Given the description of an element on the screen output the (x, y) to click on. 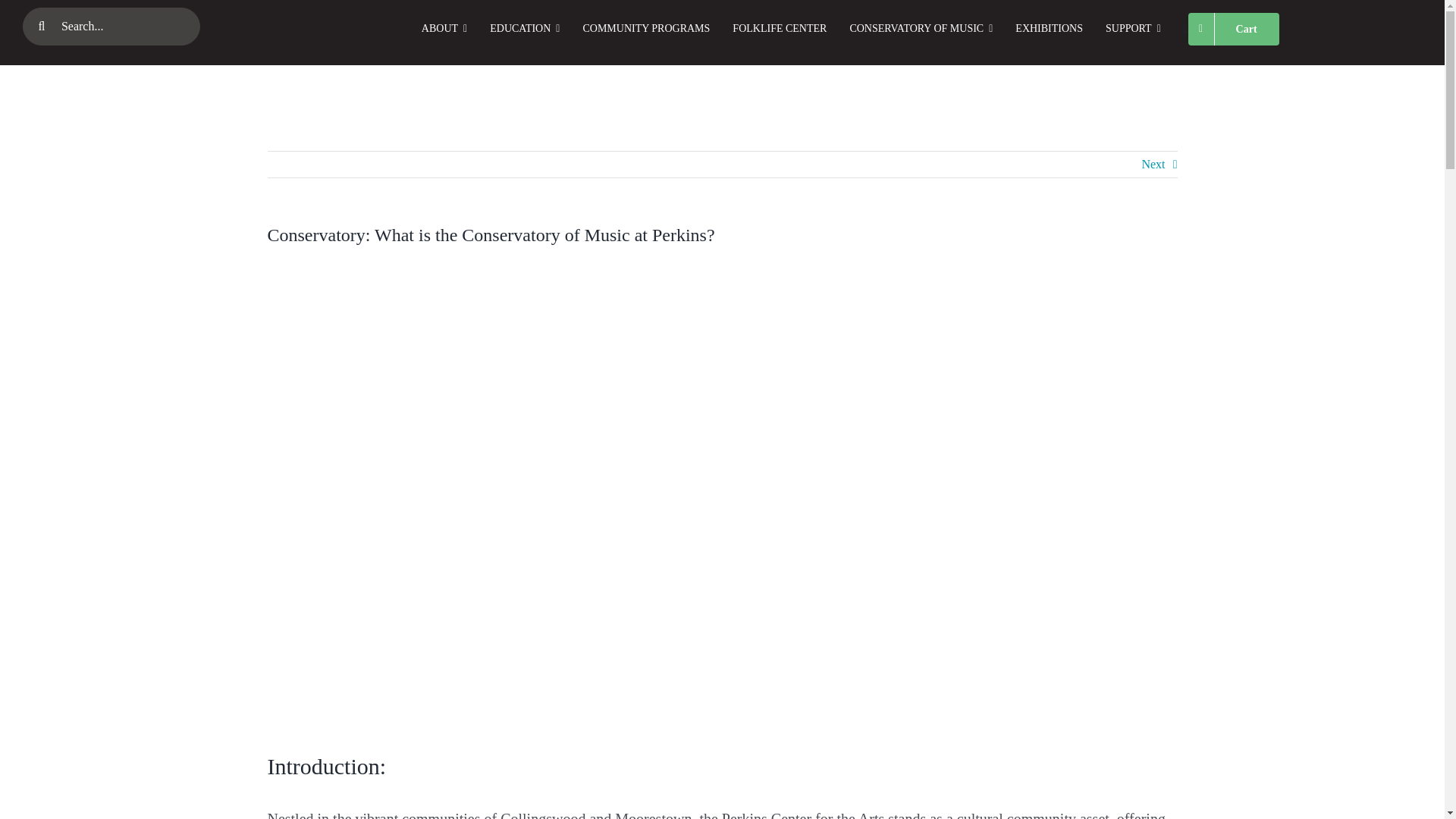
EDUCATION (513, 28)
COMMUNITY PROGRAMS (634, 28)
CONSERVATORY OF MUSIC (909, 28)
Cart (1233, 28)
ABOUT (432, 28)
EXHIBITIONS (1037, 28)
FOLKLIFE CENTER (768, 28)
SUPPORT (1121, 28)
